Given the description of an element on the screen output the (x, y) to click on. 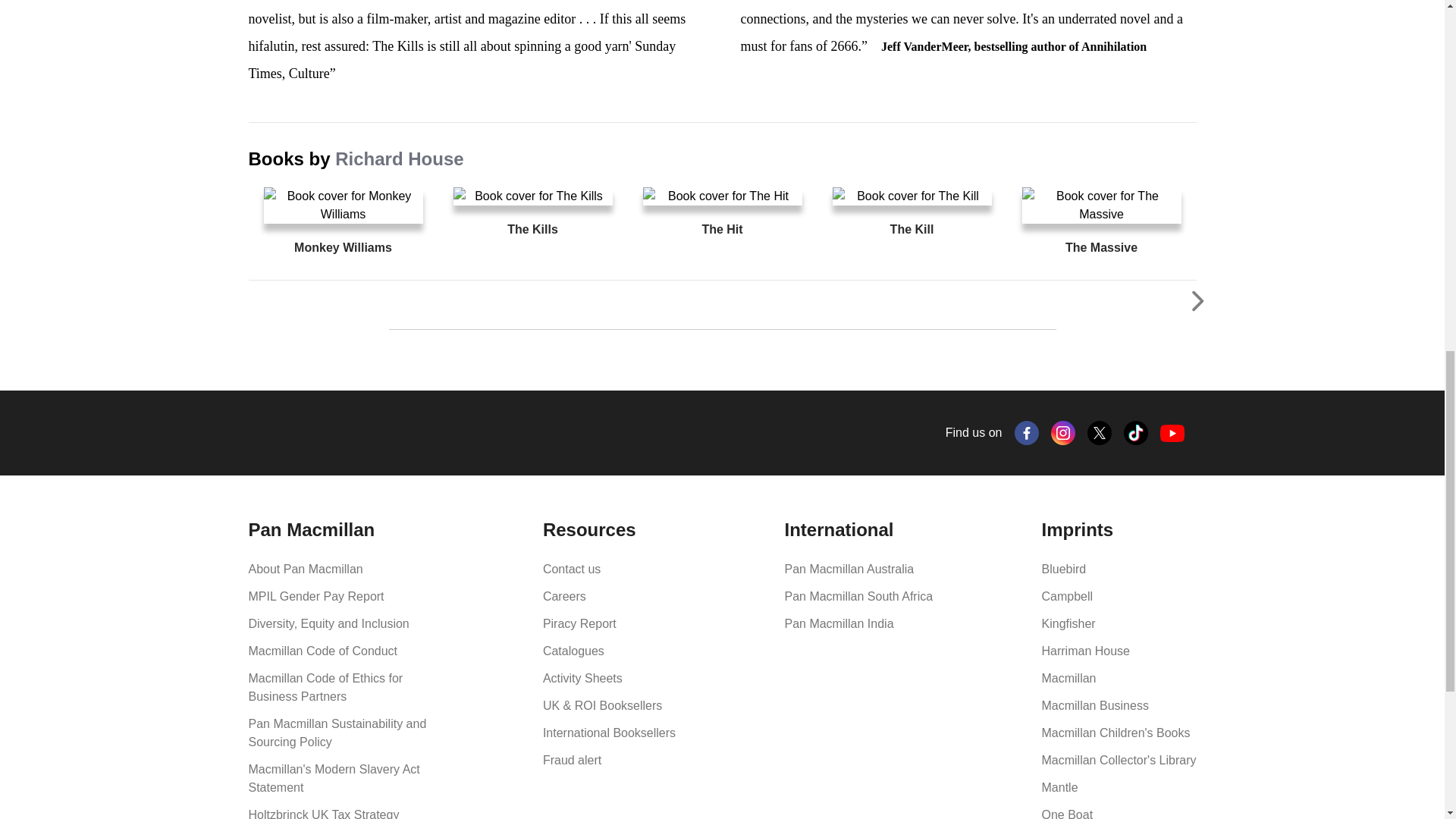
Instagram (1063, 432)
YouTube (1172, 433)
Facebook (1026, 432)
TikTok (1136, 432)
